Given the description of an element on the screen output the (x, y) to click on. 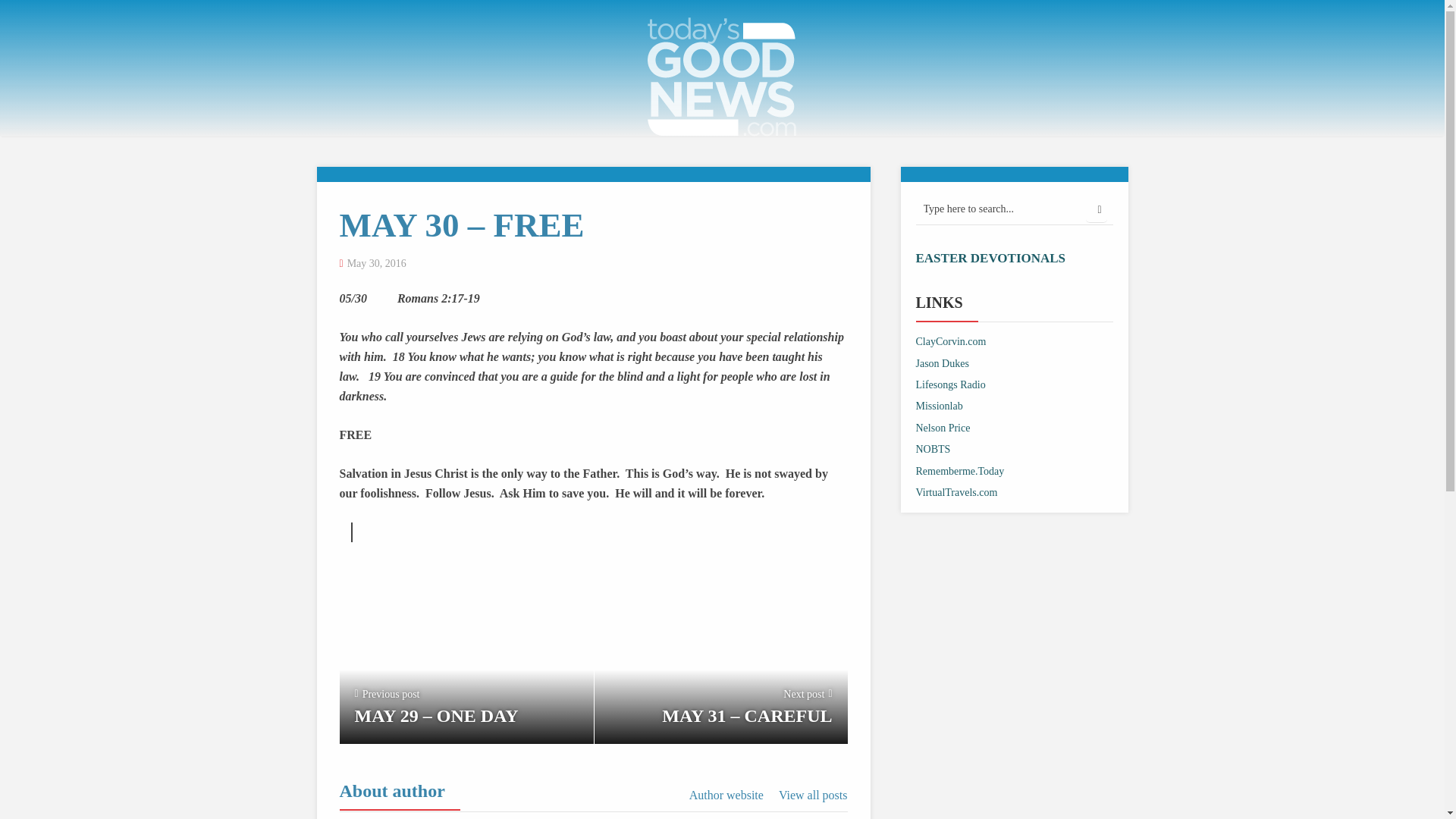
NOBTS (932, 449)
Today's Good News (721, 75)
View all posts (812, 795)
Author website (725, 795)
VirtualTravels.com (956, 491)
Missionlab (938, 405)
Type here to search... (1014, 209)
Jason Dukes (942, 363)
Rememberme.Today (959, 471)
Type here to search... (1014, 209)
ClayCorvin.com (951, 341)
Nelson Price (943, 428)
EASTER DEVOTIONALS (990, 257)
Lifesongs Radio (950, 384)
